Given the description of an element on the screen output the (x, y) to click on. 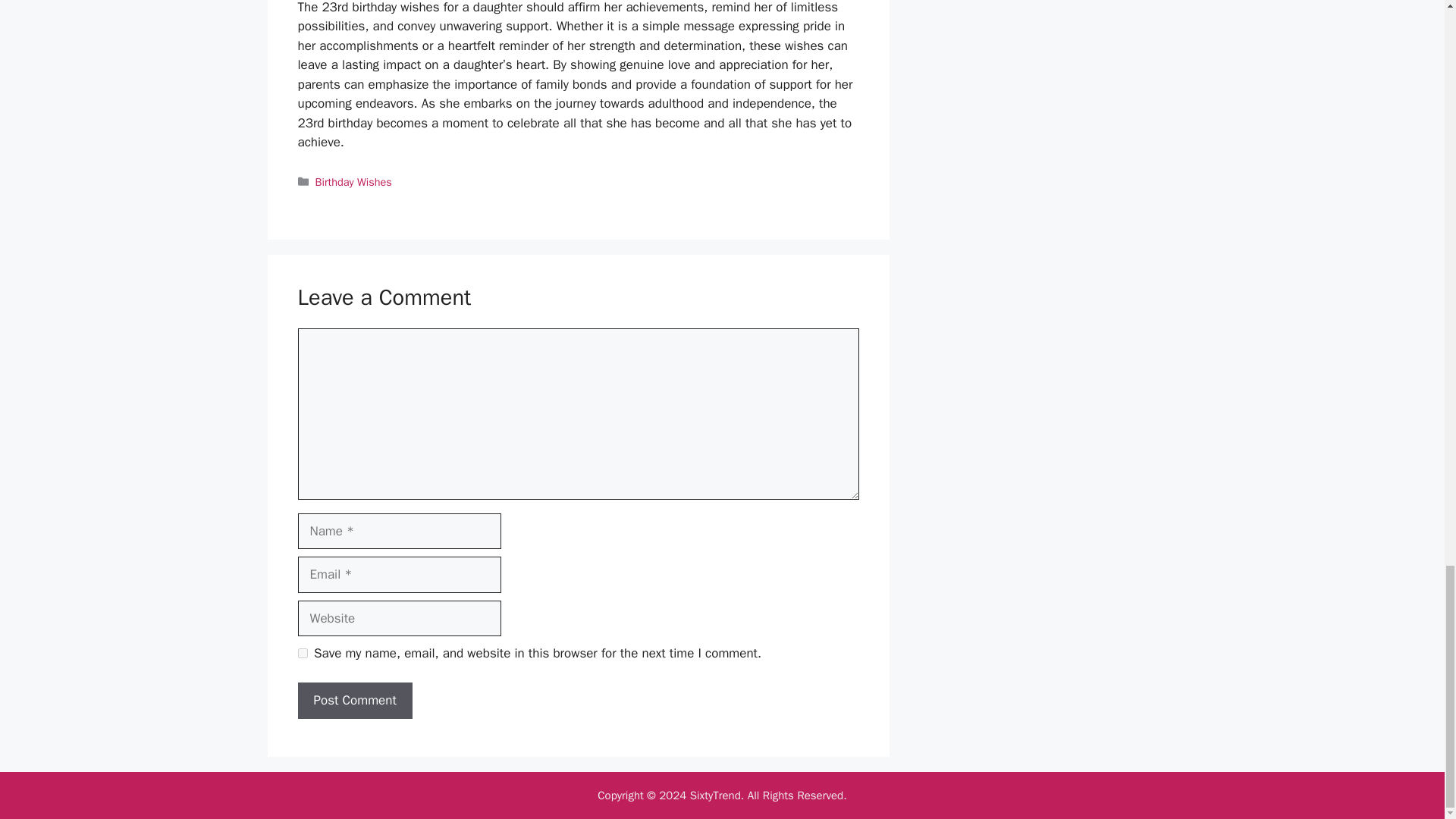
Birthday Wishes (353, 182)
SixtyTrend (715, 795)
yes (302, 653)
Post Comment (354, 700)
Post Comment (354, 700)
